Given the description of an element on the screen output the (x, y) to click on. 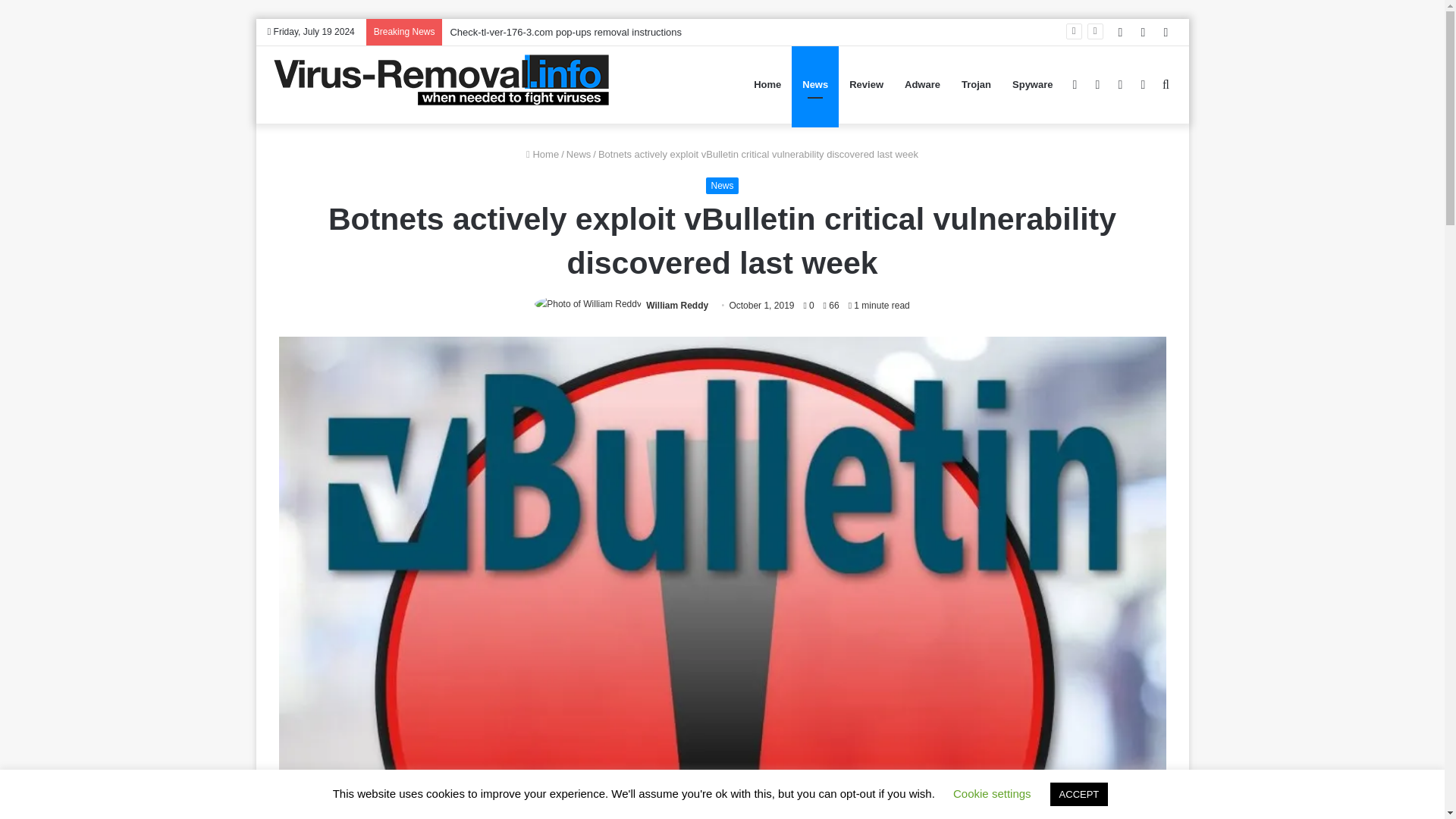
William Reddy (676, 305)
Virus removal information (438, 84)
News (722, 185)
William Reddy (676, 305)
Check-tl-ver-176-3.com pop-ups removal instructions (565, 31)
Home (542, 153)
News (578, 153)
